Given the description of an element on the screen output the (x, y) to click on. 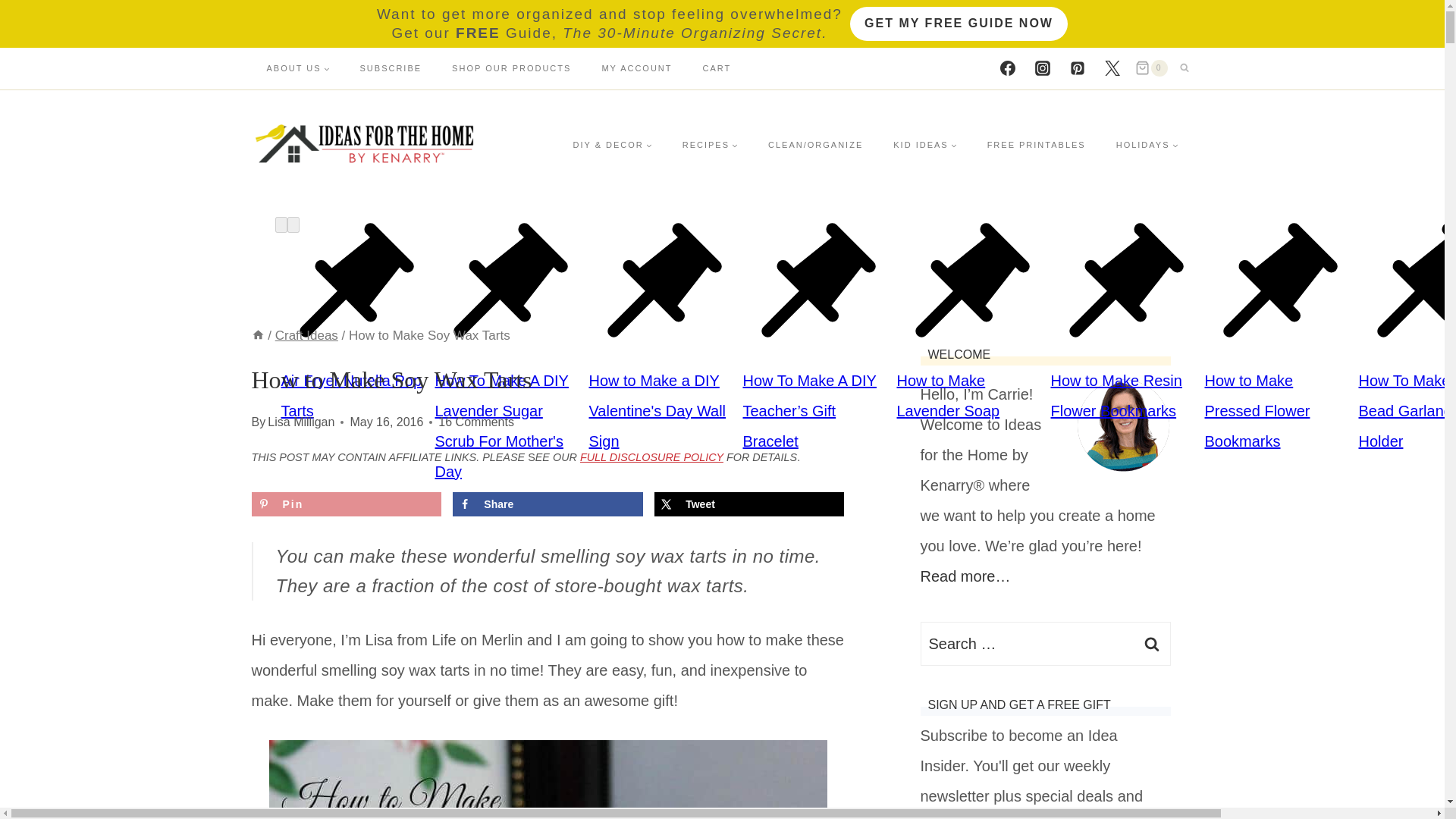
Share on Facebook (547, 504)
SUBSCRIBE (391, 67)
CART (716, 67)
MY ACCOUNT (636, 67)
ABOUT US (298, 67)
Save to Pinterest (346, 504)
0 (1151, 67)
Home (257, 335)
SHOP OUR PRODUCTS (511, 67)
FREE PRINTABLES (1036, 144)
16 Comments (475, 422)
HOLIDAYS (1146, 144)
KID IDEAS (924, 144)
GET MY FREE GUIDE NOW (958, 23)
Share on X (748, 504)
